Given the description of an element on the screen output the (x, y) to click on. 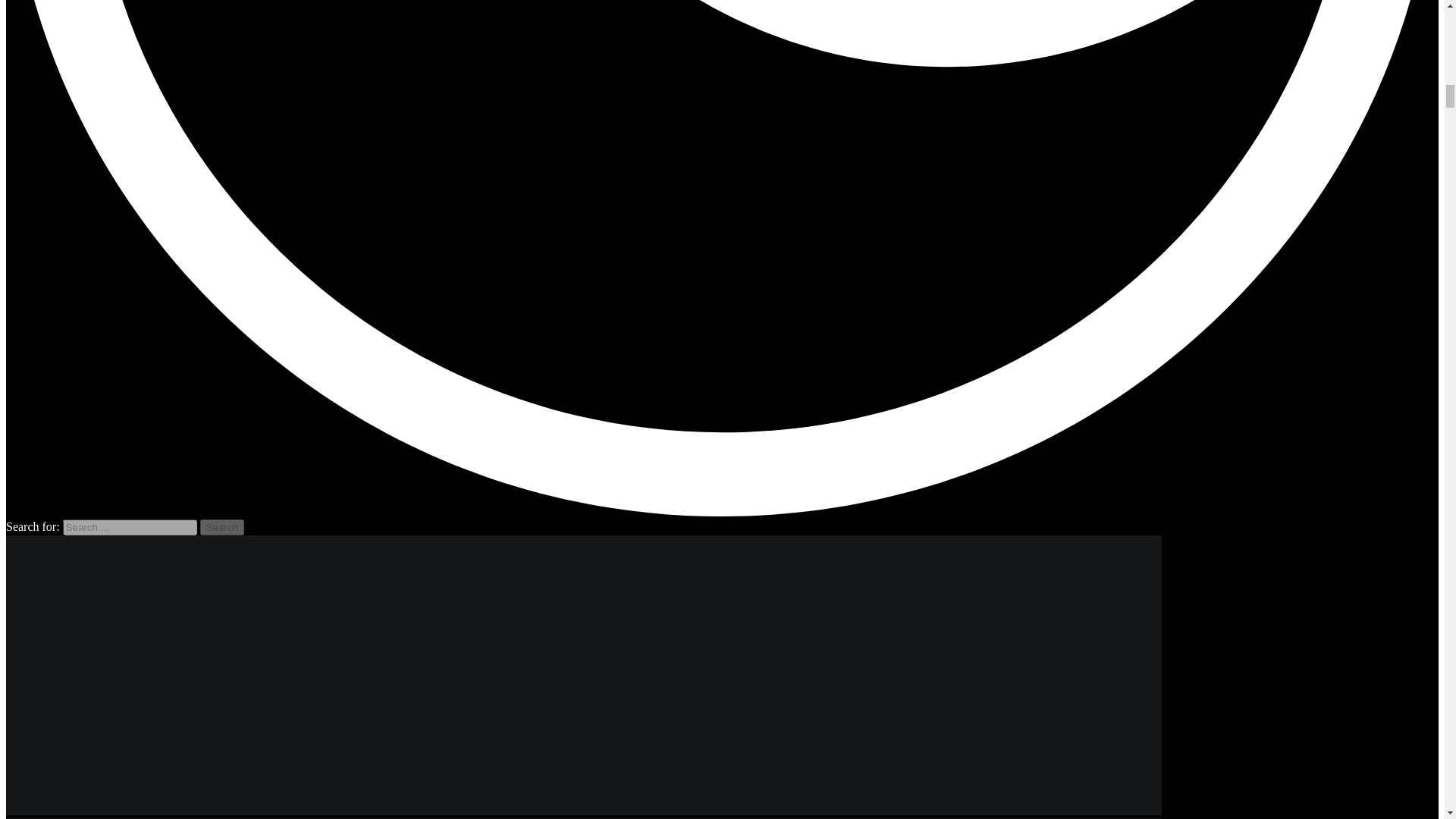
Search (222, 527)
Search (222, 527)
Search (222, 527)
